Given the description of an element on the screen output the (x, y) to click on. 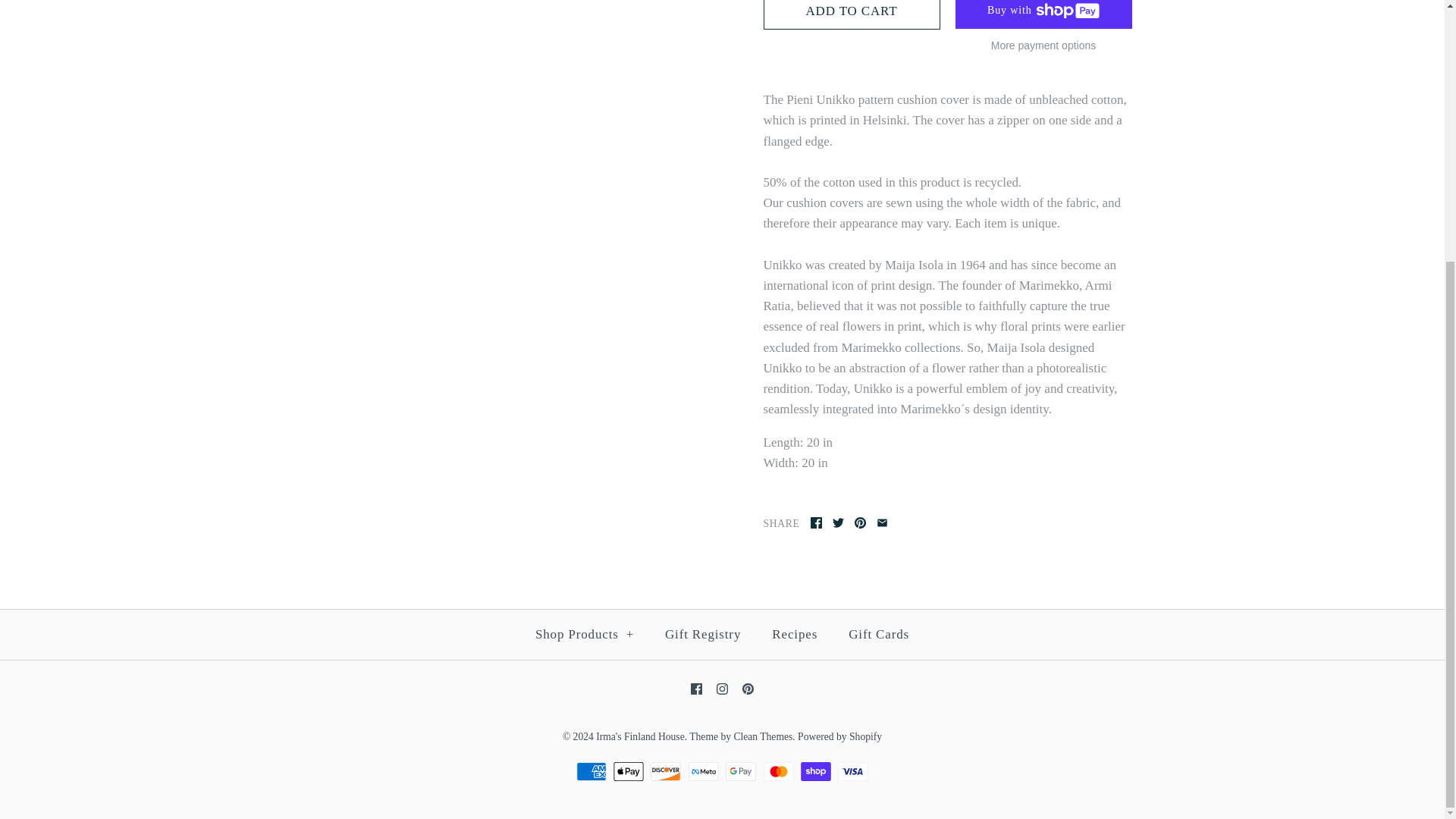
Marimekko Pieni Unikko Cushion Cover, 50x50 (497, 131)
Share on Twitter (838, 522)
Pinterest (748, 688)
Instagram (722, 688)
Add to Cart (850, 14)
Share using email (882, 522)
Discover (665, 771)
Twitter (838, 522)
Shop Pay (815, 771)
Pinterest (860, 522)
Facebook (695, 688)
Facebook (816, 522)
Mastercard (777, 771)
Email (882, 522)
Google Pay (740, 771)
